Given the description of an element on the screen output the (x, y) to click on. 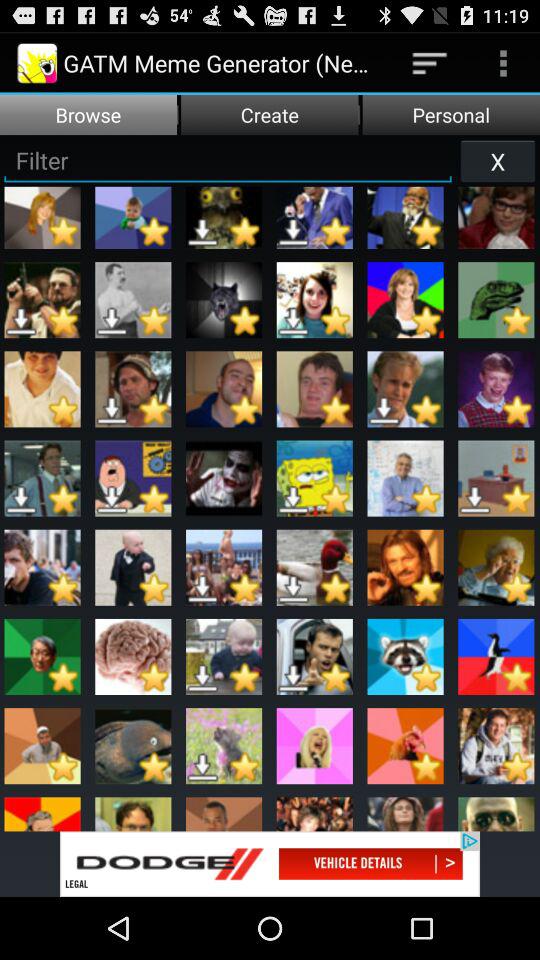
type in search bar (228, 160)
